Given the description of an element on the screen output the (x, y) to click on. 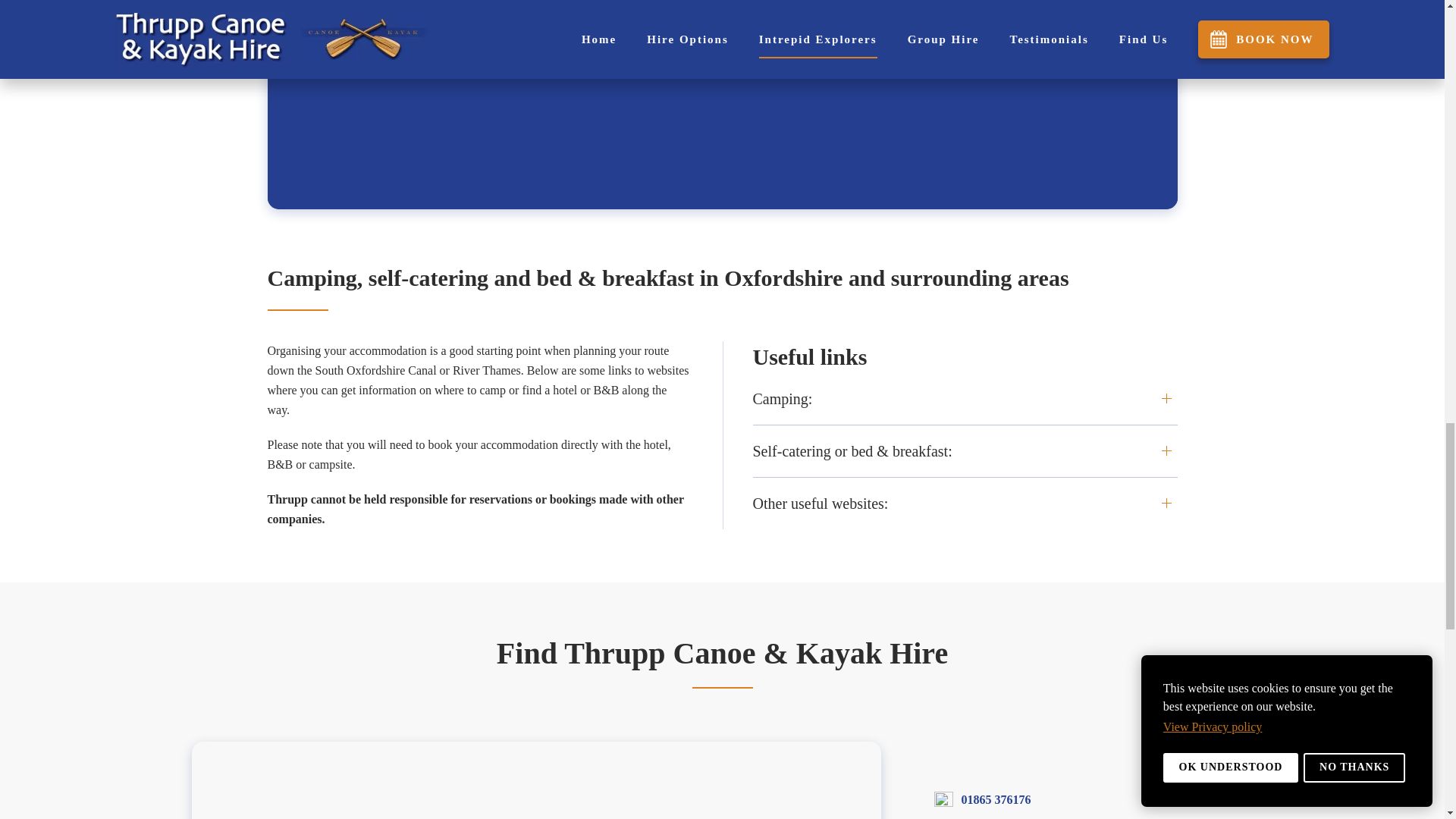
01865 376176 (995, 799)
Camping: (964, 398)
Other useful websites: (964, 503)
